Given the description of an element on the screen output the (x, y) to click on. 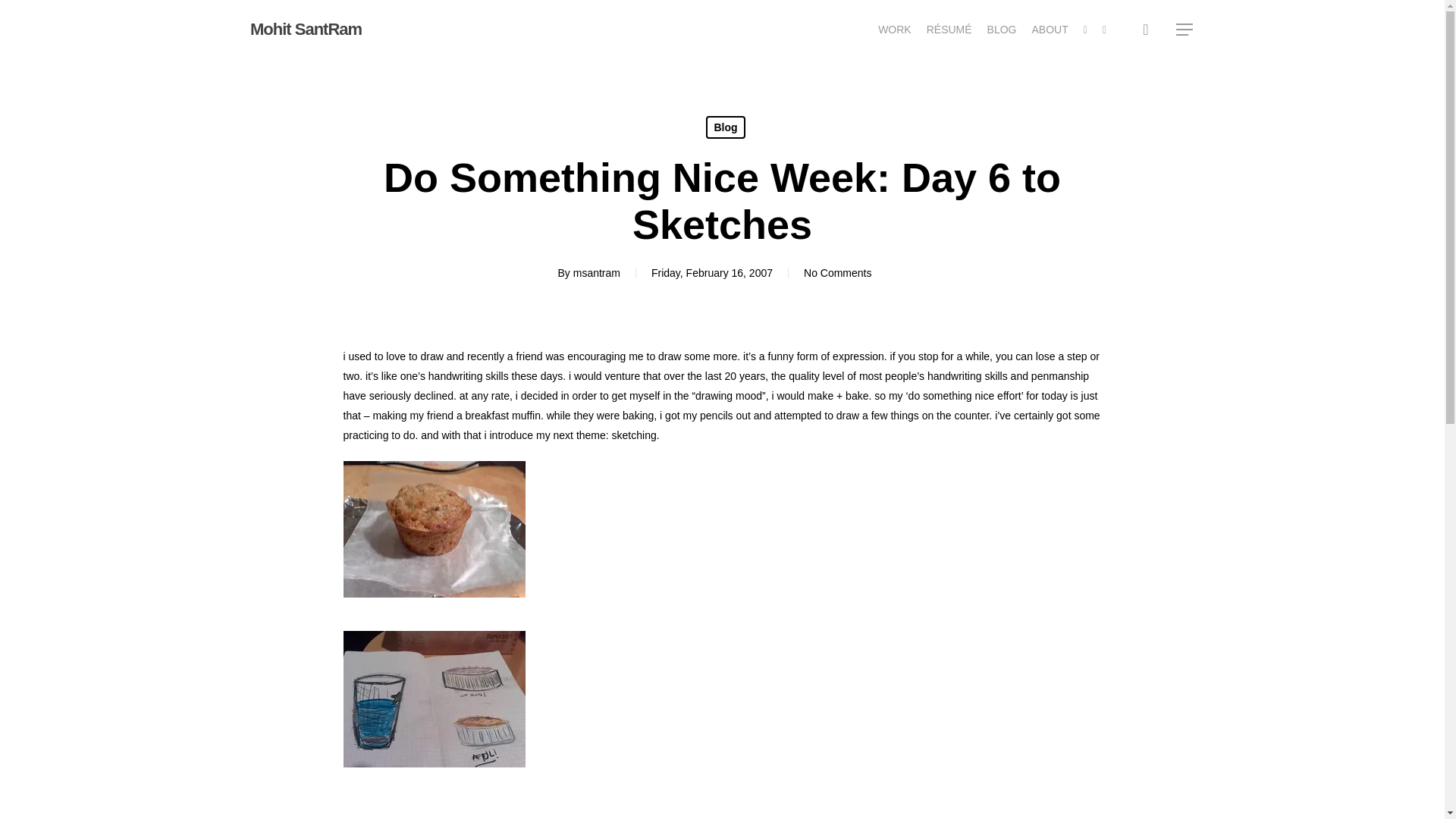
WORK (894, 29)
Mohit SantRam (305, 29)
No Comments (836, 272)
ABOUT (1050, 29)
Posts by msantram (596, 272)
BLOG (1001, 29)
Blog (725, 127)
Menu (1184, 28)
msantram (596, 272)
search (1145, 28)
